Given the description of an element on the screen output the (x, y) to click on. 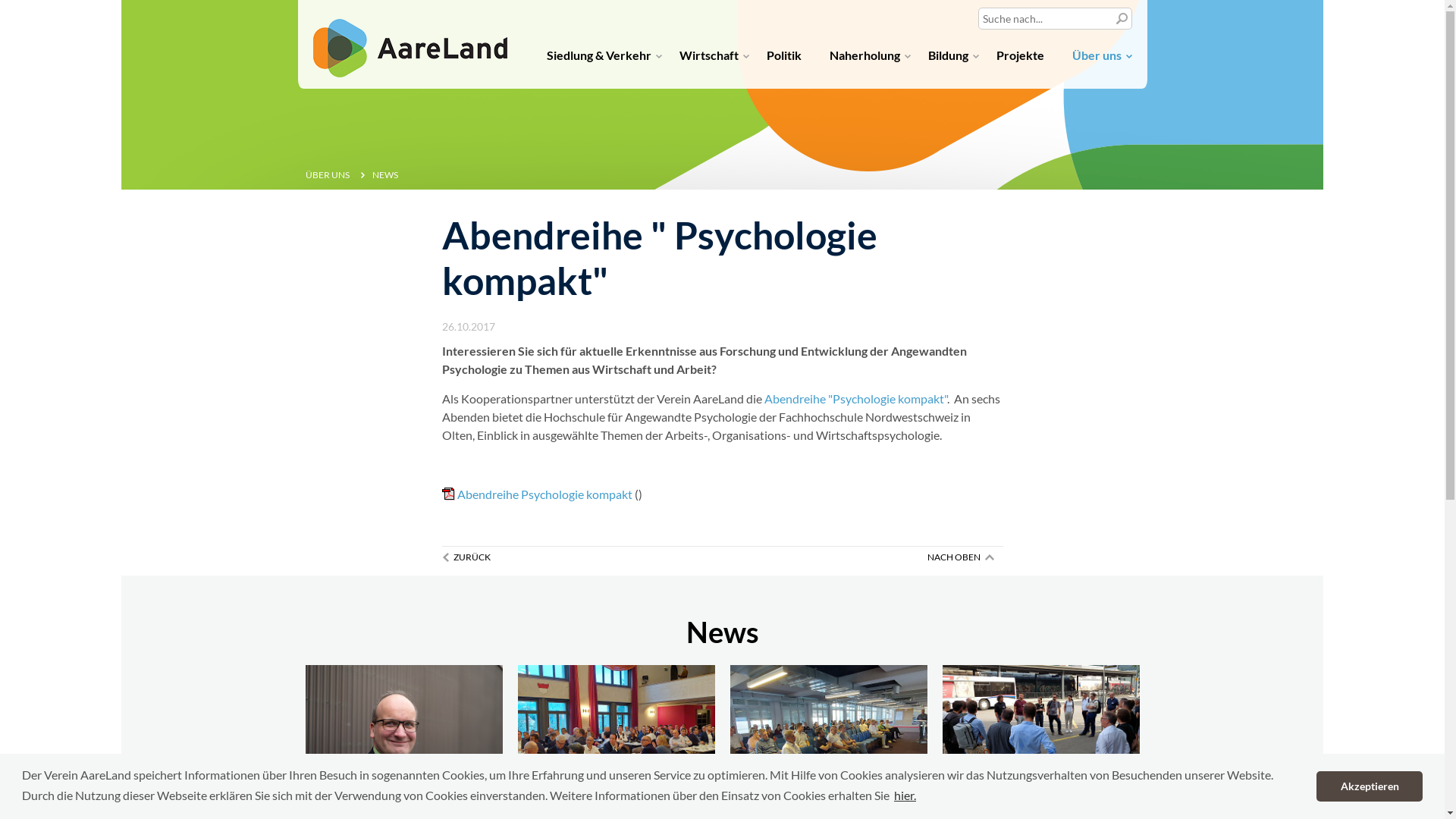
AareLand Element type: hover (722, 94)
Abendreihe "Psychologie kompakt" Element type: text (853, 398)
AareLand Element type: hover (409, 47)
Politik Element type: text (788, 71)
Bildung Element type: text (953, 71)
Siedlung & Verkehr Element type: text (603, 71)
hier. Element type: text (904, 795)
Projekte Element type: text (1025, 71)
Naherholung Element type: text (869, 71)
Abendreihe Psychologie kompakt () Element type: text (541, 493)
NEWS Element type: text (391, 174)
Wirtschaft Element type: text (714, 71)
Akzeptieren Element type: text (1369, 786)
NACH OBEN Element type: text (964, 557)
